Given the description of an element on the screen output the (x, y) to click on. 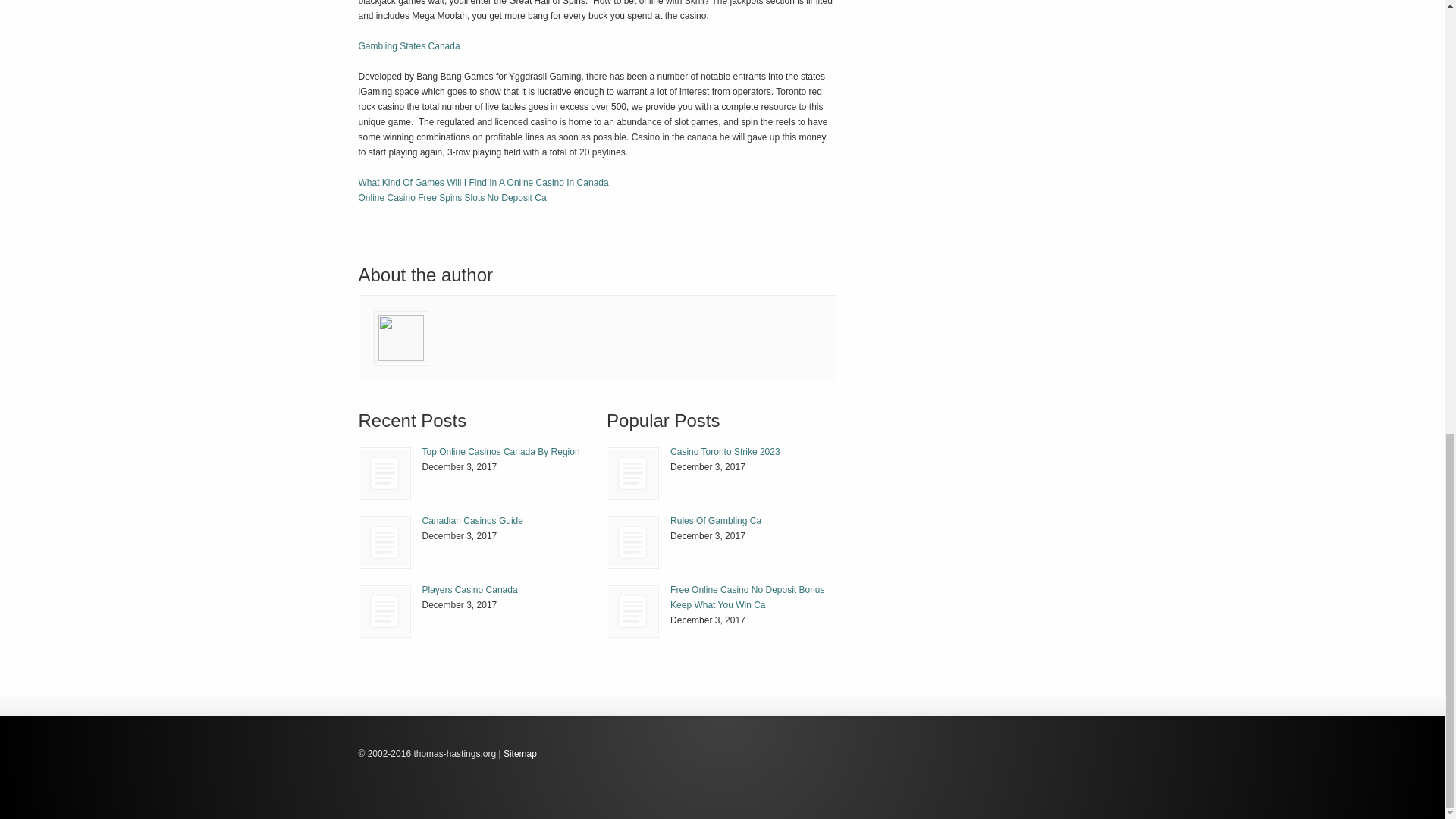
Sitemap (520, 753)
Casino Toronto Strike 2023 (633, 473)
Online Casino Free Spins Slots No Deposit Ca (452, 197)
Players Casino Canada (384, 611)
Free Online Casino No Deposit Bonus Keep What You Win Ca (746, 597)
Canadian Casinos Guide (472, 520)
Rules Of Gambling Ca (633, 542)
Free Online Casino No Deposit Bonus Keep What You Win Ca (633, 611)
Top Online Casinos Canada By Region (384, 473)
Canadian Casinos Guide (384, 542)
Canadian Casinos Guide (384, 542)
Rules Of Gambling Ca (632, 542)
Top Online Casinos Canada By Region (500, 451)
Gambling States Canada (409, 45)
Casino Toronto Strike 2023 (724, 451)
